Given the description of an element on the screen output the (x, y) to click on. 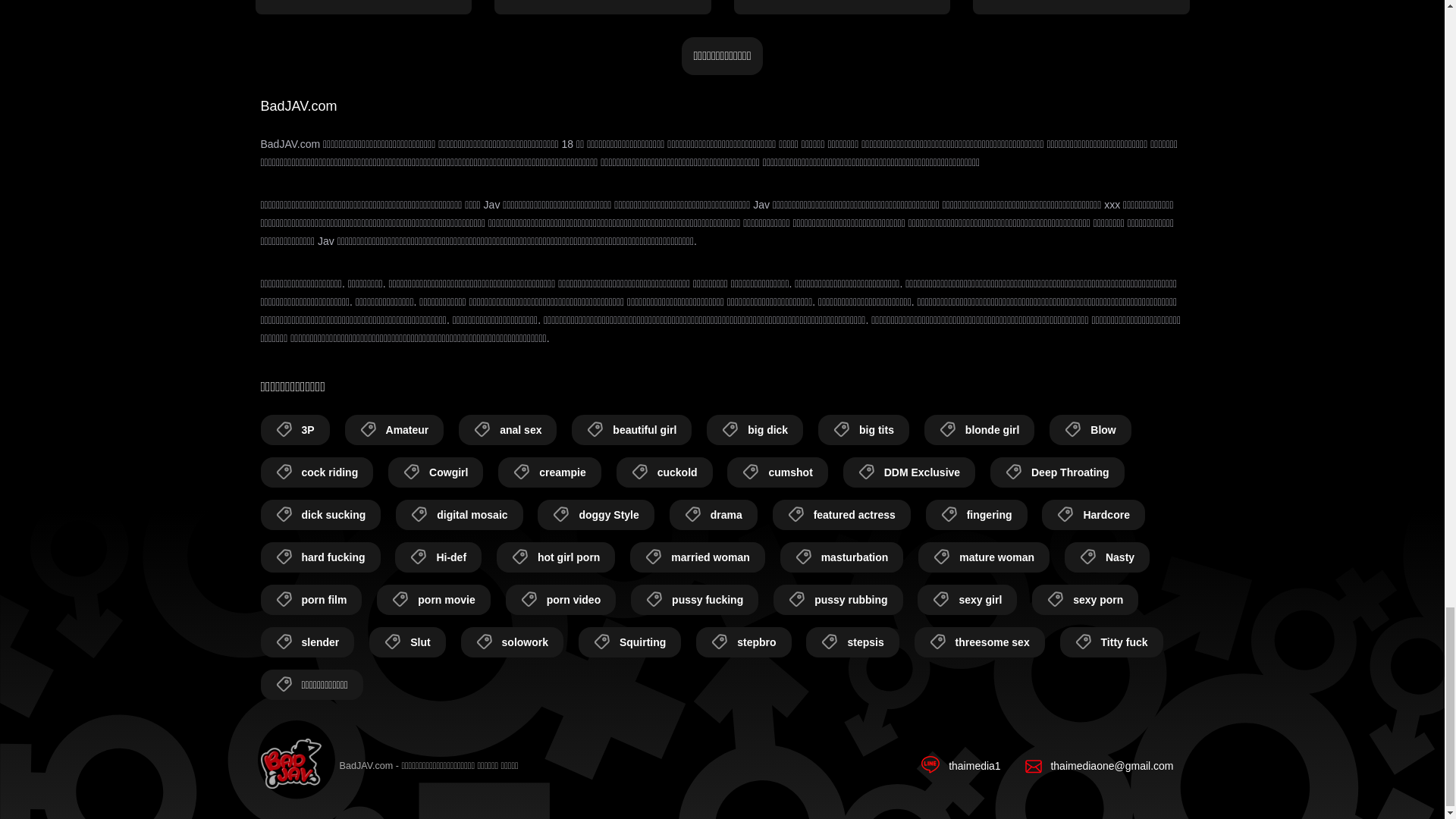
anal sex (507, 429)
3P (295, 429)
Badjav.com (290, 765)
Amateur (394, 429)
beautiful girl (631, 429)
